Given the description of an element on the screen output the (x, y) to click on. 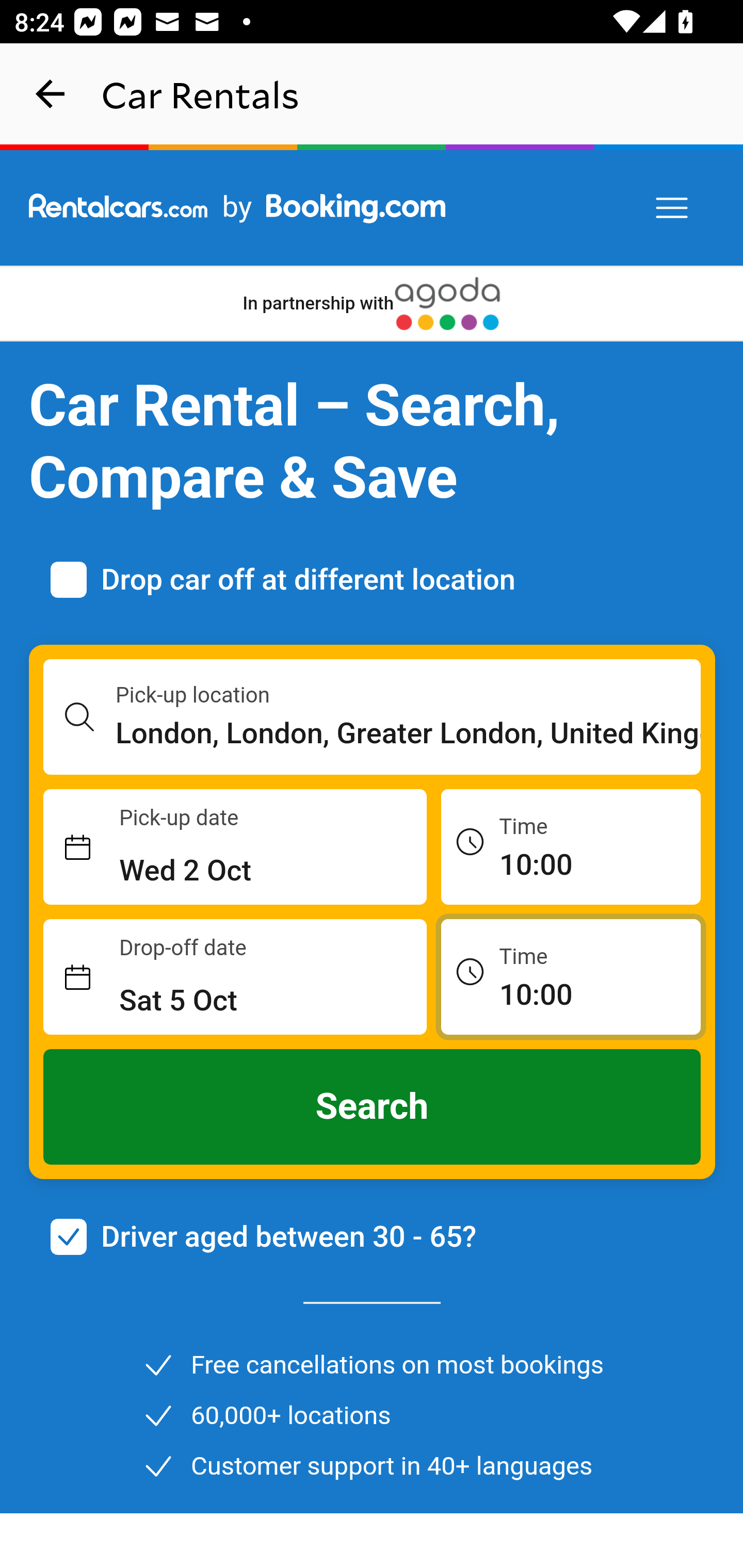
navigation_button (50, 93)
Menu (672, 208)
London, London, Greater London, United Kingdom (408, 733)
Pick-up date Wed 2 Oct (235, 847)
10:00 (571, 845)
Drop-off date Sat 5 Oct (235, 977)
10:00 (571, 975)
Search (372, 1106)
